Given the description of an element on the screen output the (x, y) to click on. 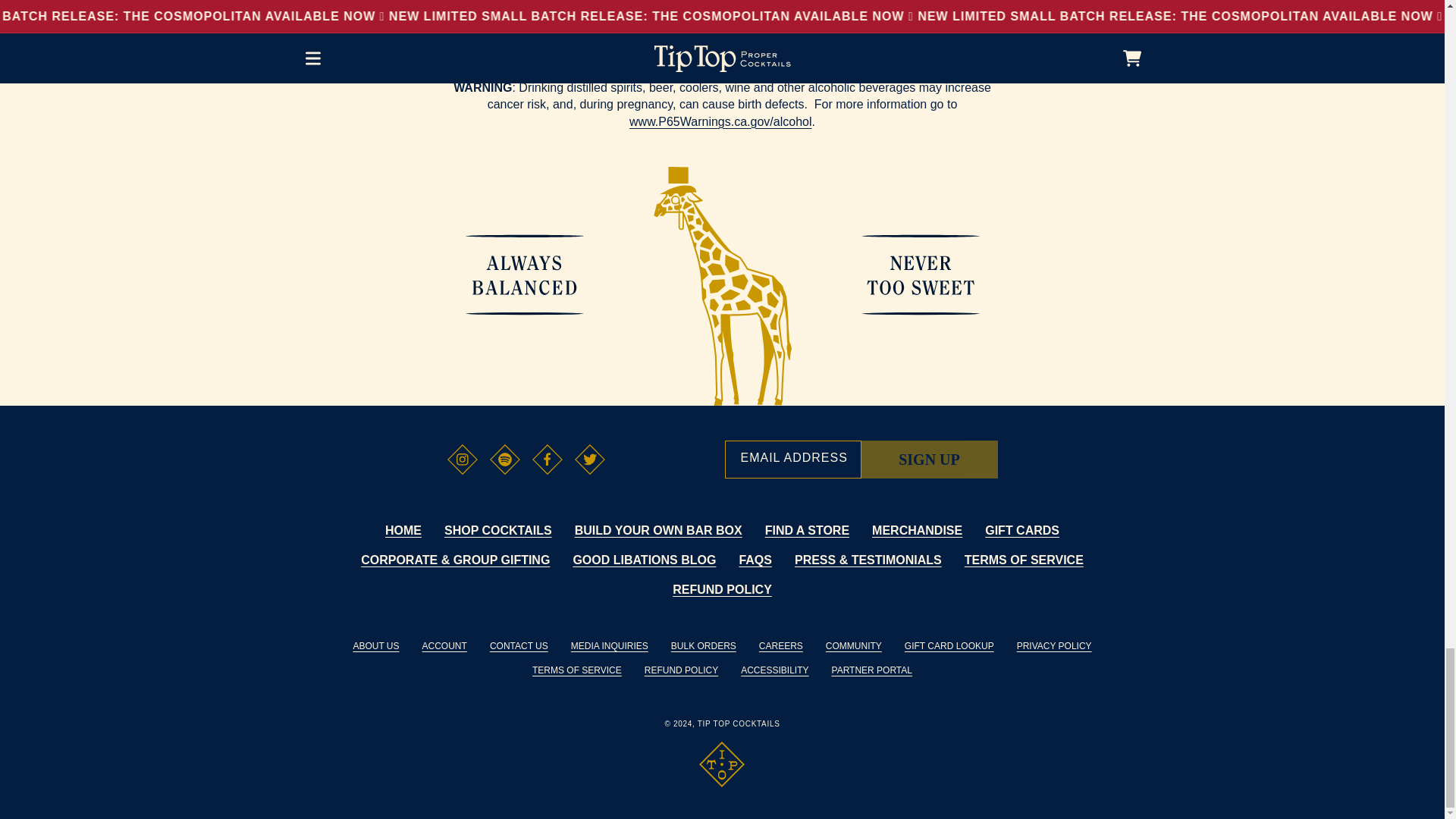
Cocktails (721, 29)
